Given the description of an element on the screen output the (x, y) to click on. 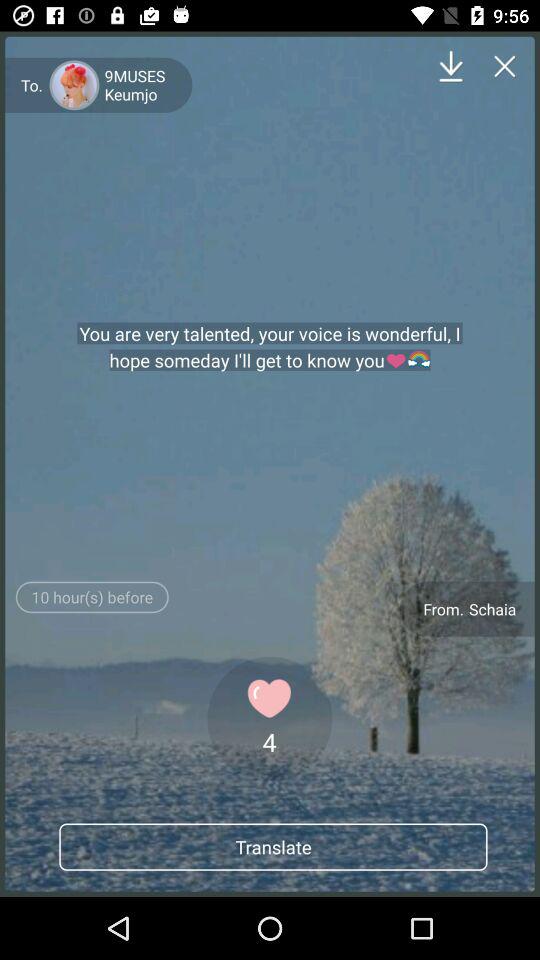
turn off translate icon (273, 846)
